Given the description of an element on the screen output the (x, y) to click on. 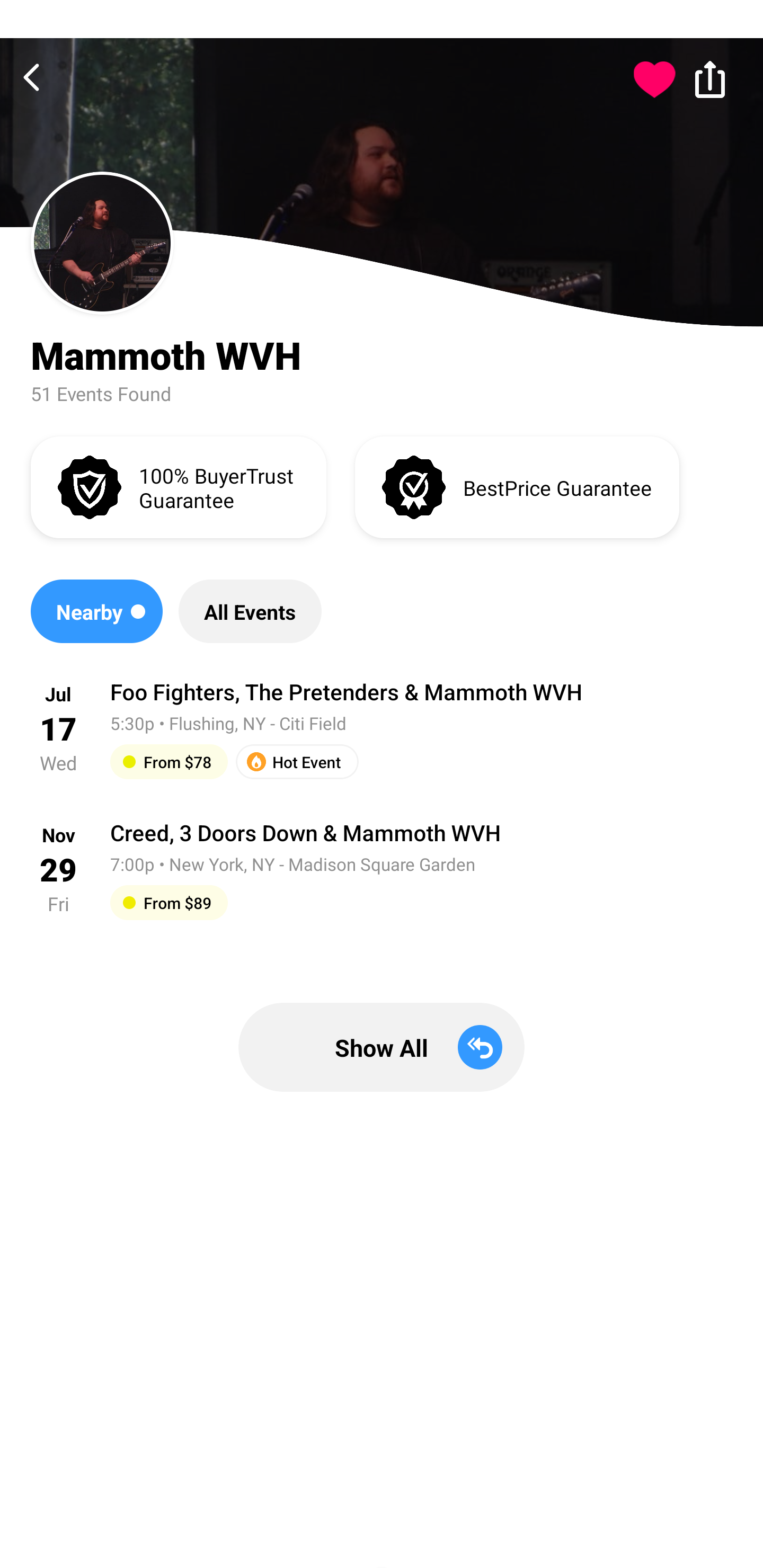
100% BuyerTrust Guarantee (178, 486)
BestPrice Guarantee (516, 486)
Nearby (96, 611)
All Events (249, 611)
Show All (381, 1047)
